Given the description of an element on the screen output the (x, y) to click on. 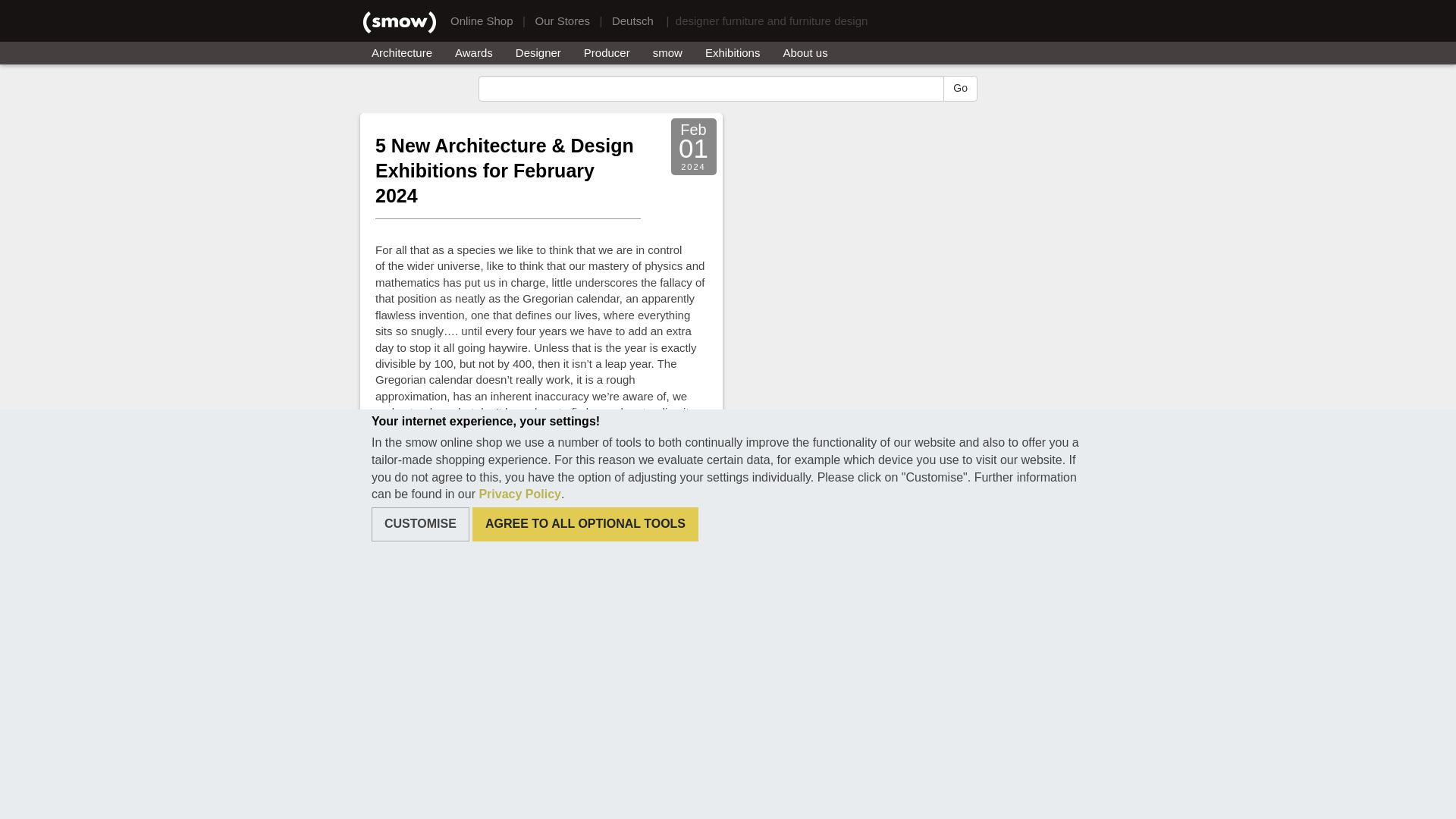
Privacy Policy (519, 493)
Awards (473, 52)
AGREE TO ALL OPTIONAL TOOLS (584, 523)
Deutsch (632, 20)
Online Shop (481, 20)
CUSTOMISE (419, 523)
Architecture (401, 52)
About us (804, 52)
Exhibitions (732, 52)
Our Stores (561, 20)
smow (668, 52)
Designer (537, 52)
Producer (607, 52)
Go (959, 88)
